Given the description of an element on the screen output the (x, y) to click on. 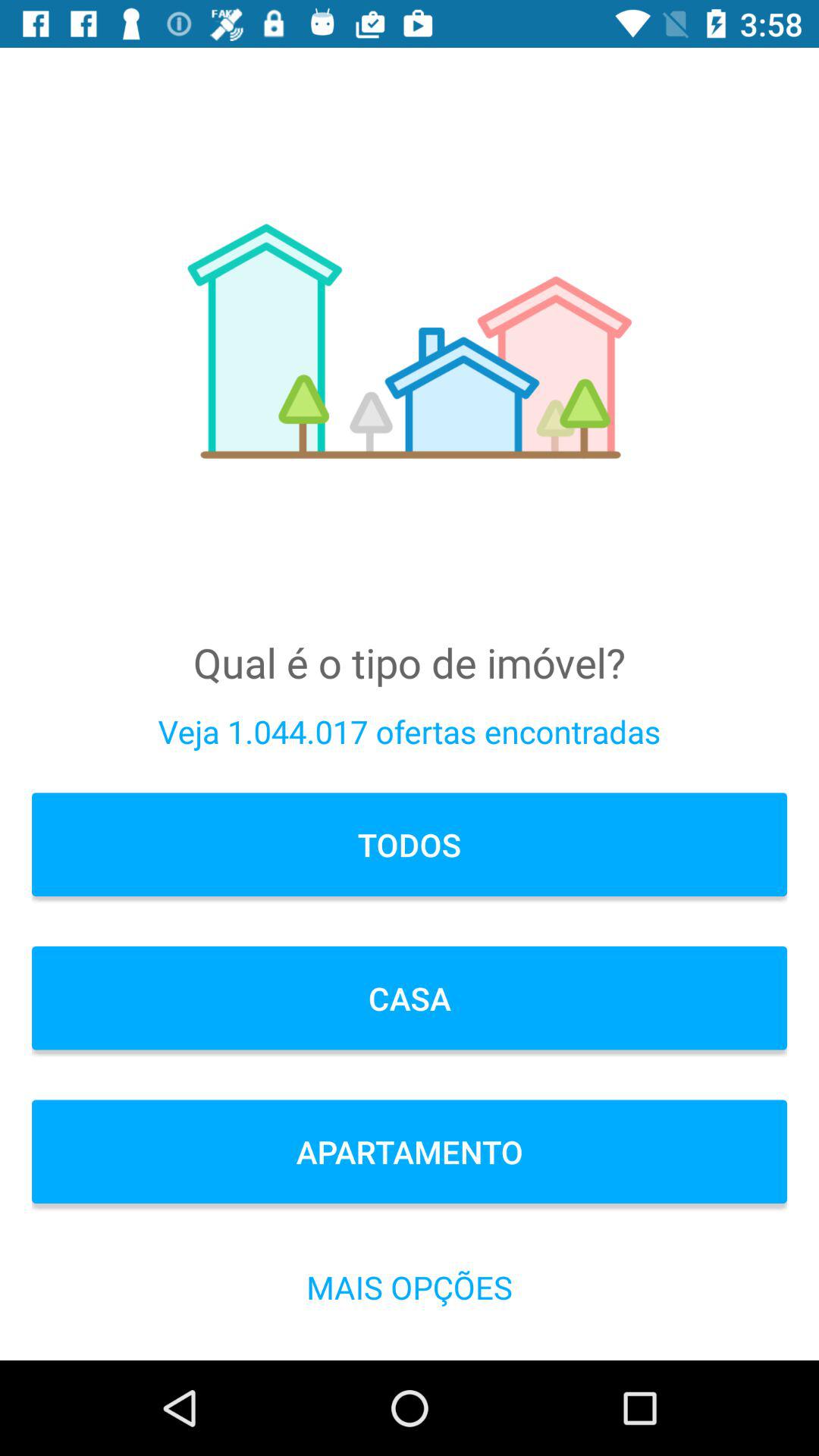
choose icon below todos (409, 997)
